Given the description of an element on the screen output the (x, y) to click on. 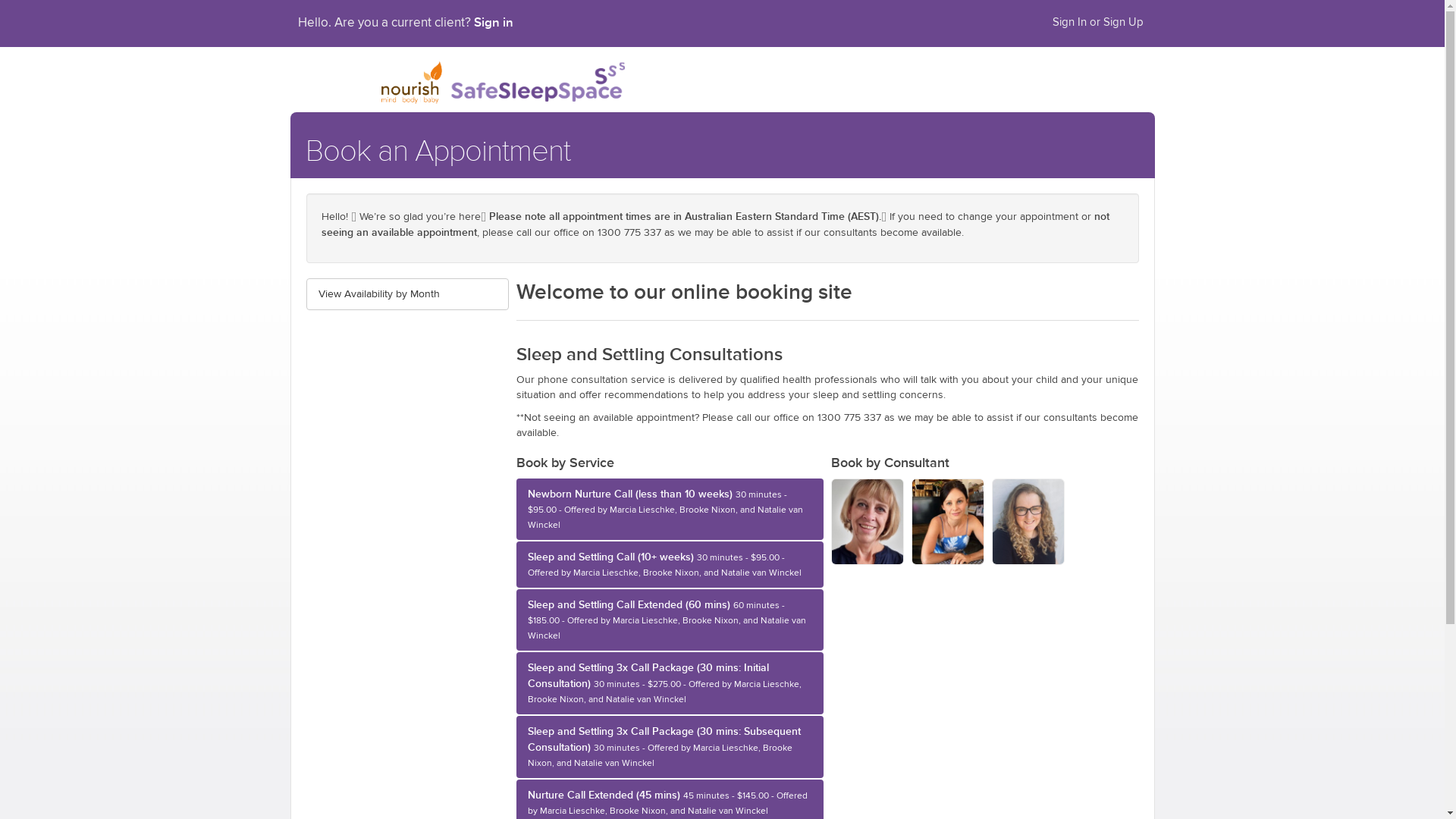
View Availability by Month Element type: text (407, 294)
Sign in Element type: text (492, 22)
Sign In or Sign Up Element type: text (1097, 22)
